Given the description of an element on the screen output the (x, y) to click on. 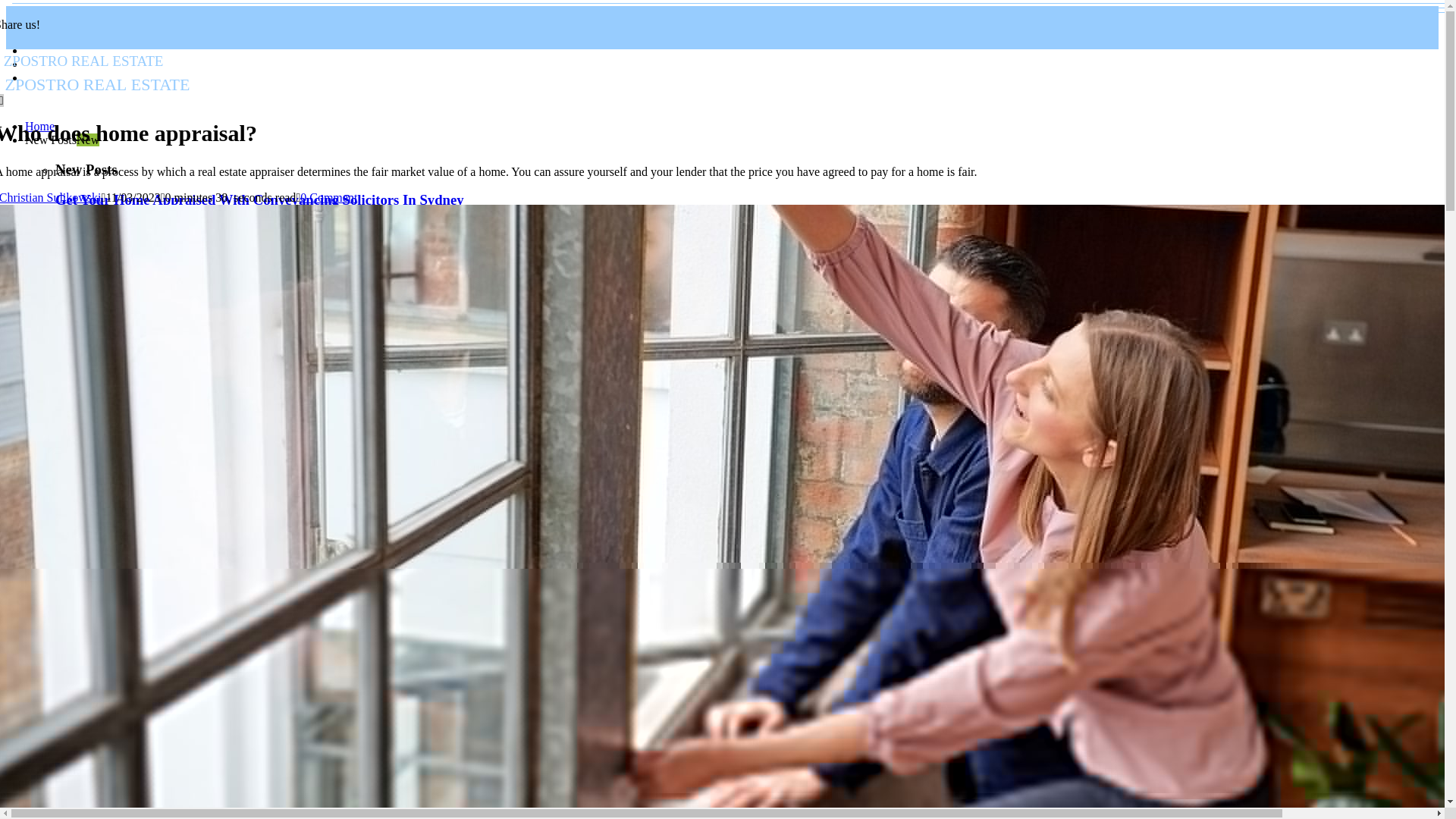
0 Comment (351, 71)
Home (327, 196)
Are home appraisals higher right now? (39, 125)
New PostsNew (173, 317)
Posts by Christian Sulikowski (61, 139)
Who pays for home appraisal and inspection? (50, 196)
Christian Sulikowski (193, 376)
